Given the description of an element on the screen output the (x, y) to click on. 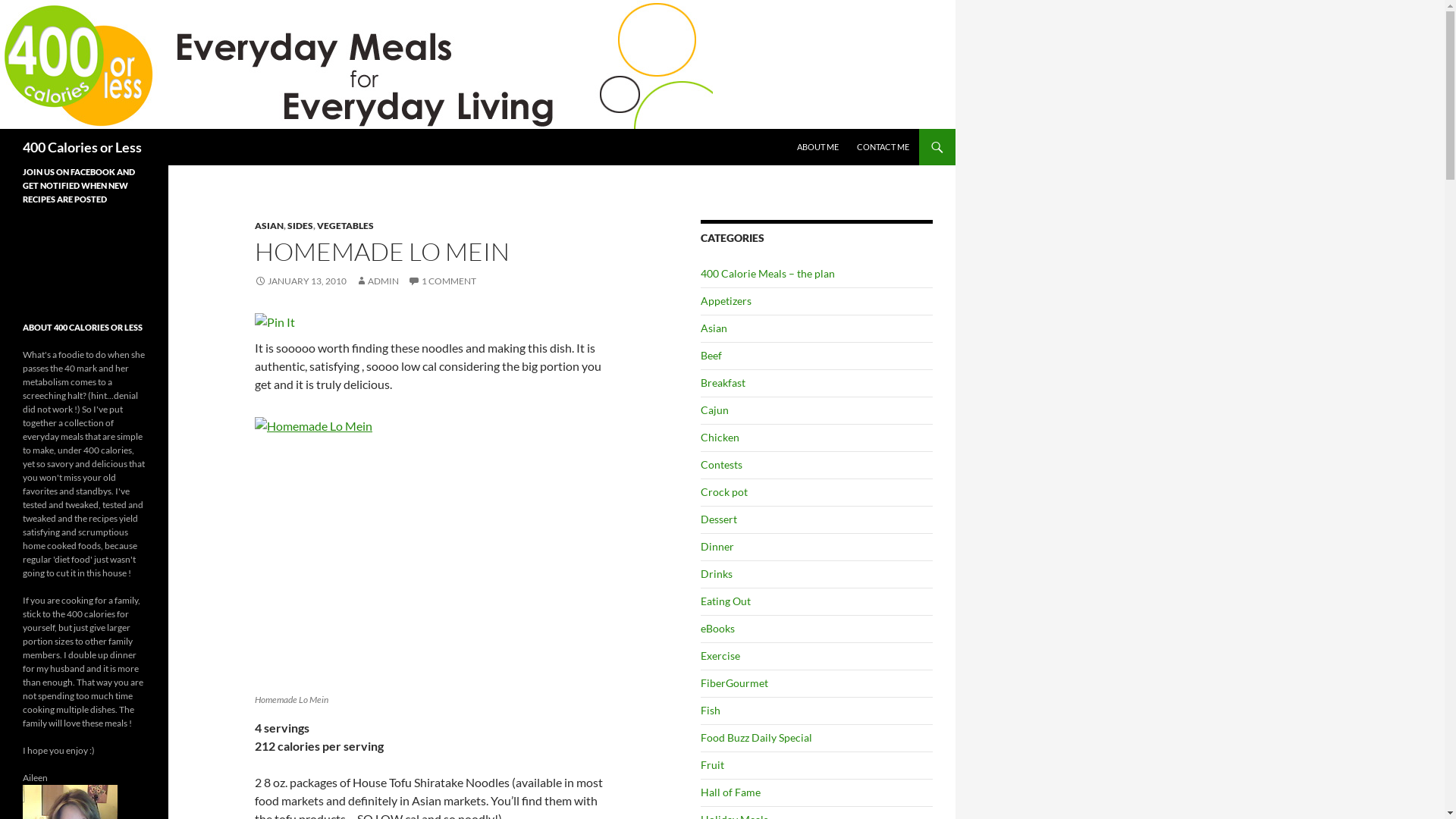
Contests Element type: text (721, 464)
Appetizers Element type: text (725, 300)
Hall of Fame Element type: text (730, 791)
Fruit Element type: text (712, 764)
JANUARY 13, 2010 Element type: text (300, 280)
SIDES Element type: text (300, 225)
Pin It Element type: hover (274, 322)
Drinks Element type: text (716, 573)
Dinner Element type: text (717, 545)
Beef Element type: text (710, 354)
ASIAN Element type: text (268, 225)
ADMIN Element type: text (376, 280)
Dessert Element type: text (718, 518)
SKIP TO CONTENT Element type: text (796, 128)
Breakfast Element type: text (722, 382)
VEGETABLES Element type: text (344, 225)
lomein Element type: hover (434, 552)
Asian Element type: text (713, 327)
Cajun Element type: text (714, 409)
eBooks Element type: text (717, 627)
Chicken Element type: text (719, 436)
Food Buzz Daily Special Element type: text (756, 737)
400 Calories or Less Element type: text (81, 146)
ABOUT ME Element type: text (817, 146)
FiberGourmet Element type: text (734, 682)
Fish Element type: text (710, 709)
CONTACT ME Element type: text (882, 146)
Search Element type: text (3, 128)
Crock pot Element type: text (723, 491)
Eating Out Element type: text (725, 600)
Exercise Element type: text (720, 655)
1 COMMENT Element type: text (441, 280)
